Given the description of an element on the screen output the (x, y) to click on. 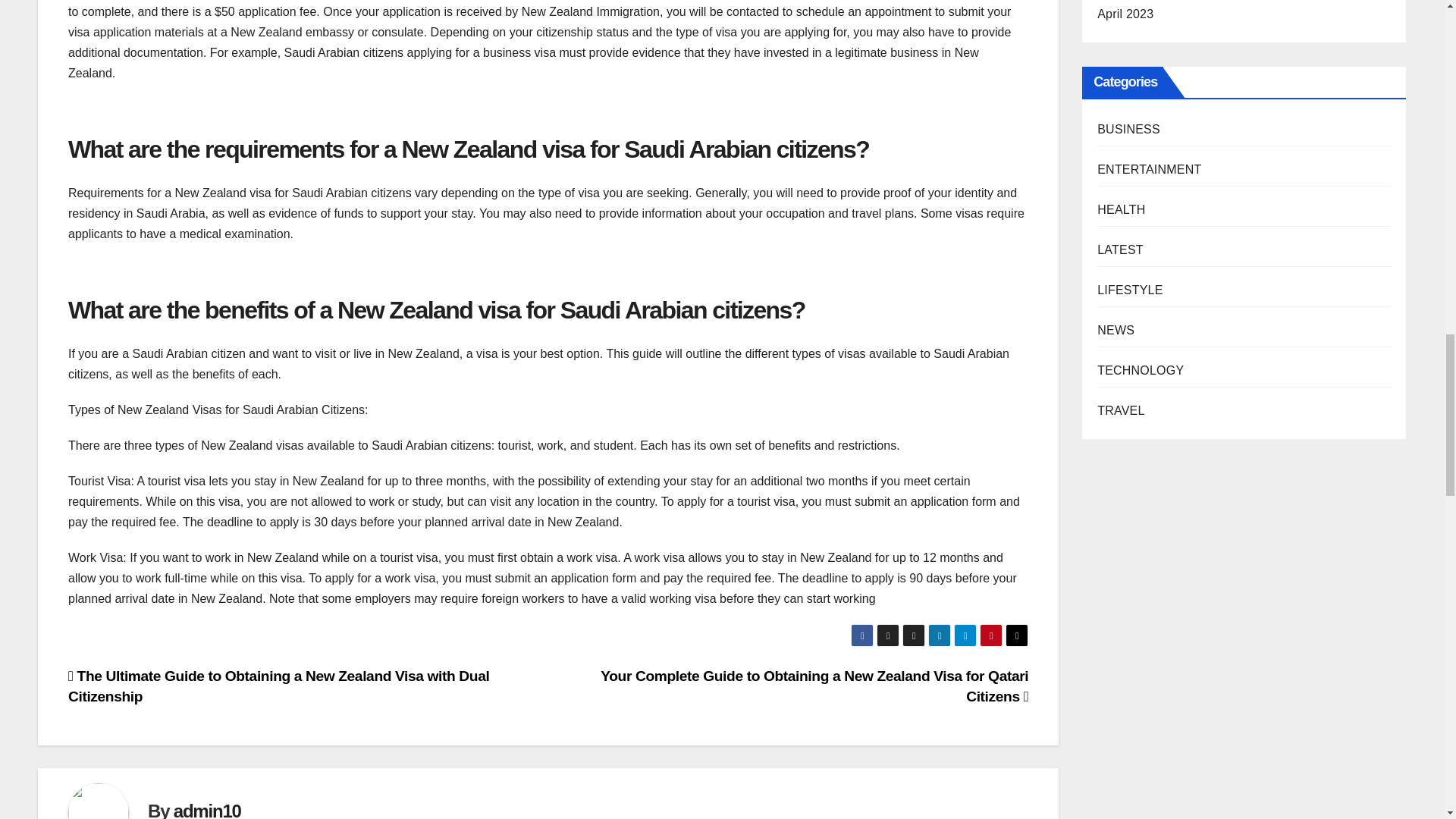
admin10 (207, 809)
